Given the description of an element on the screen output the (x, y) to click on. 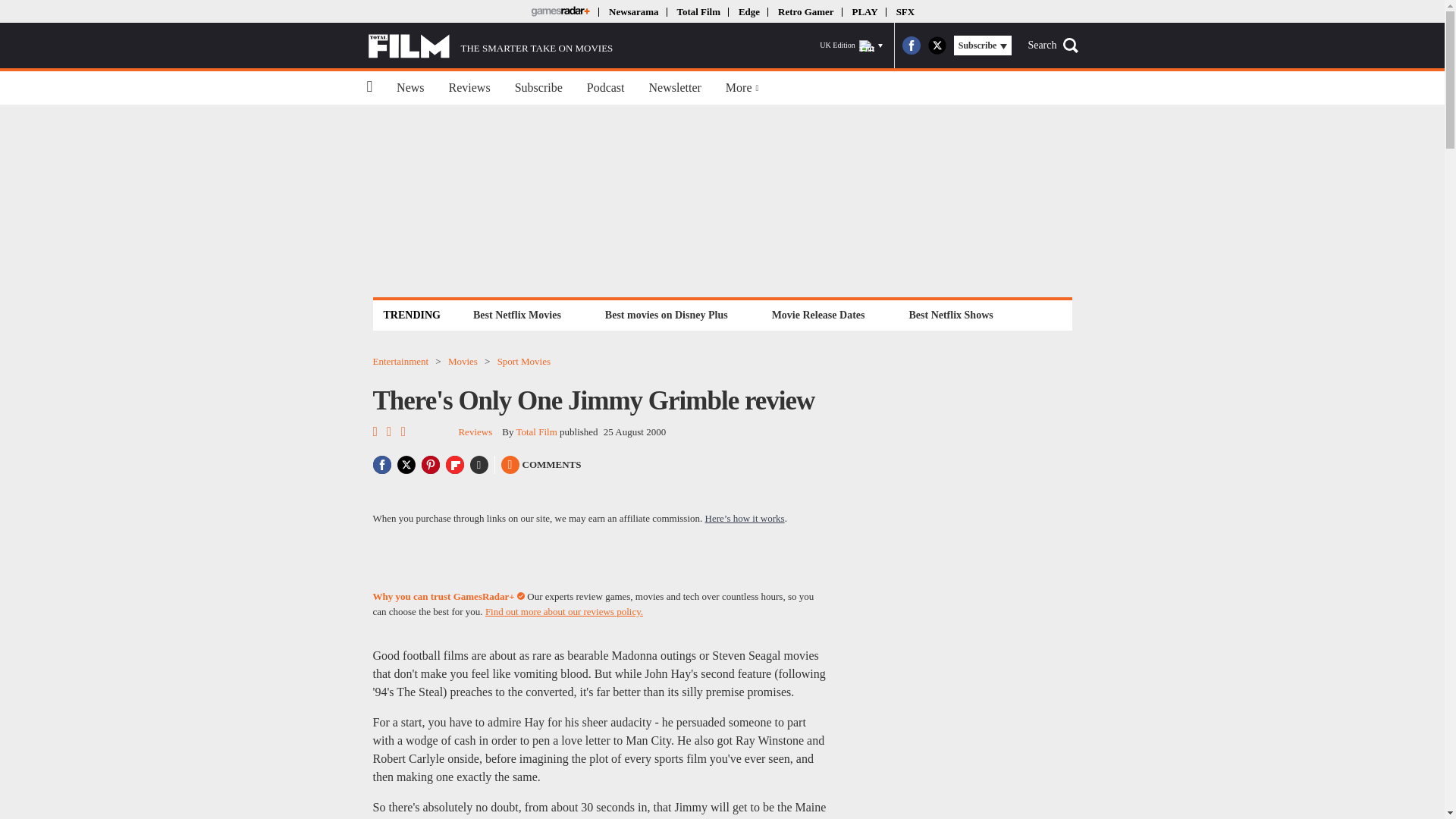
Best movies on Disney Plus (666, 314)
News (409, 87)
Edge (749, 11)
Best Netflix Movies (516, 314)
SFX (905, 11)
Total Film (698, 11)
Newsarama (633, 11)
PLAY (864, 11)
THE SMARTER TAKE ON MOVIES (489, 44)
Retro Gamer (805, 11)
Movie Release Dates (818, 314)
Newsletter (675, 87)
Podcast (606, 87)
Reviews (469, 87)
Subscribe (538, 87)
